Given the description of an element on the screen output the (x, y) to click on. 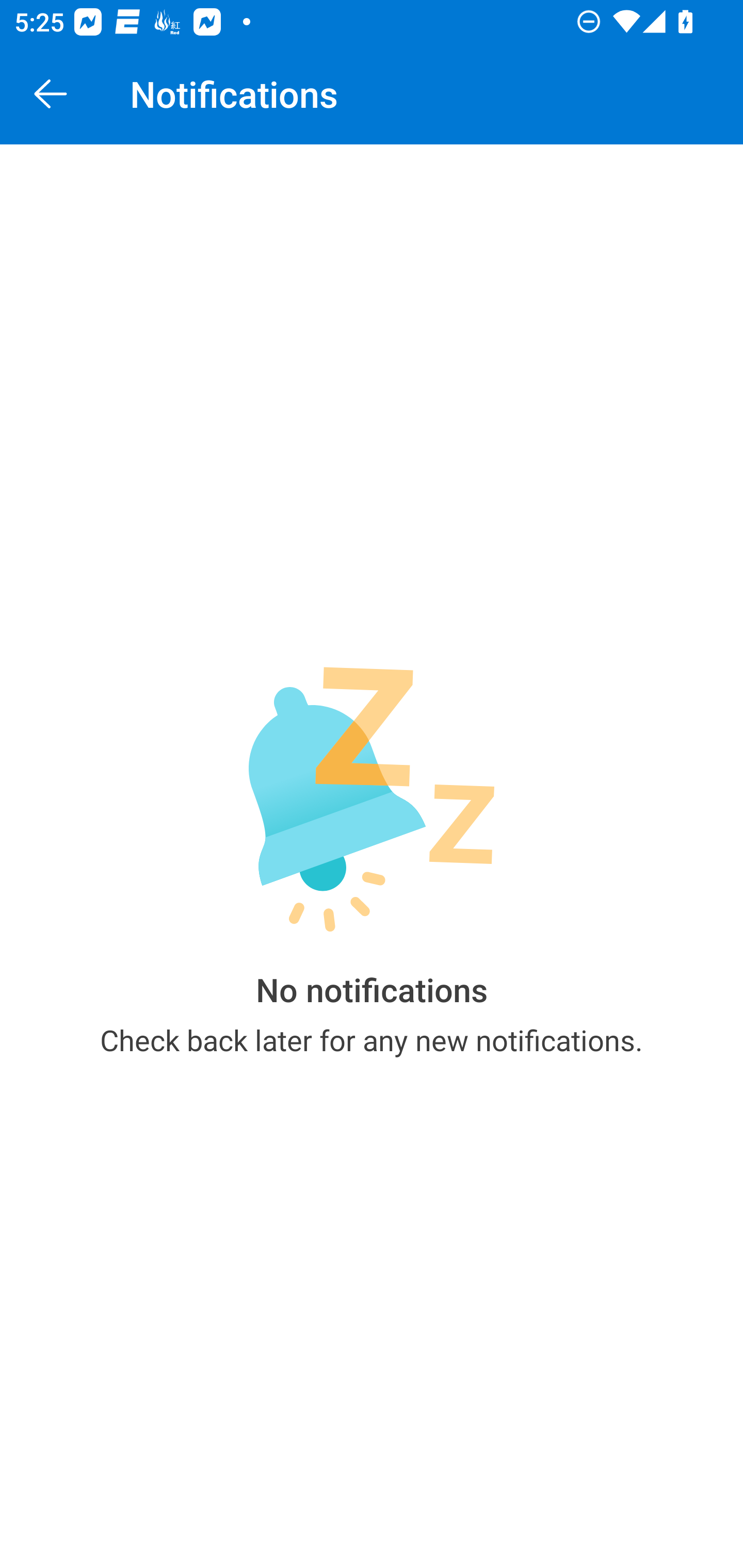
Close (50, 93)
